Given the description of an element on the screen output the (x, y) to click on. 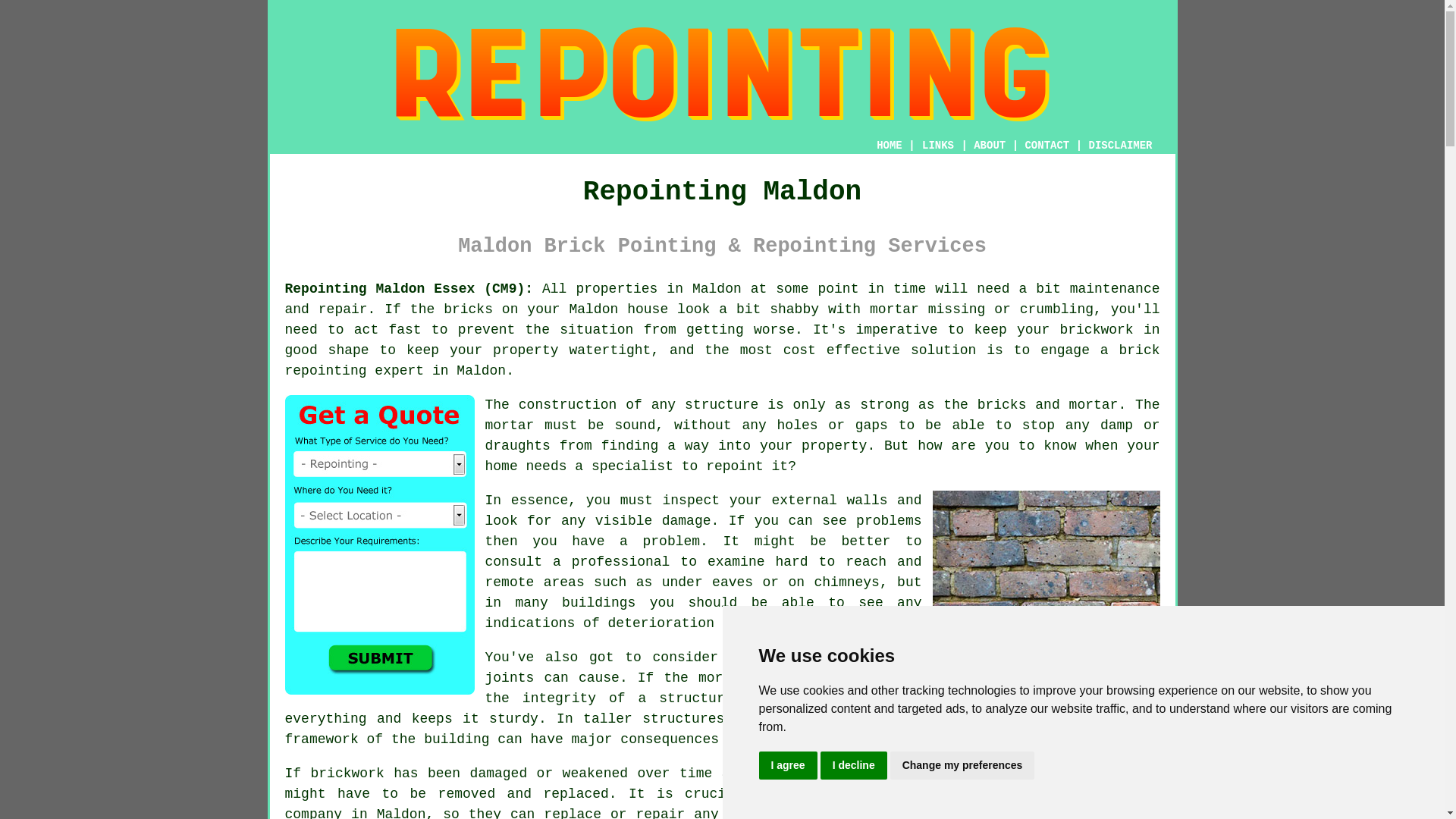
I agree (787, 765)
Professional Repointing Maldon (1046, 564)
HOME (889, 145)
mortar (509, 425)
Repointing Maldon (722, 74)
repointing (325, 370)
LINKS (938, 145)
Change my preferences (962, 765)
I decline (853, 765)
brick repointing (1091, 793)
